Given the description of an element on the screen output the (x, y) to click on. 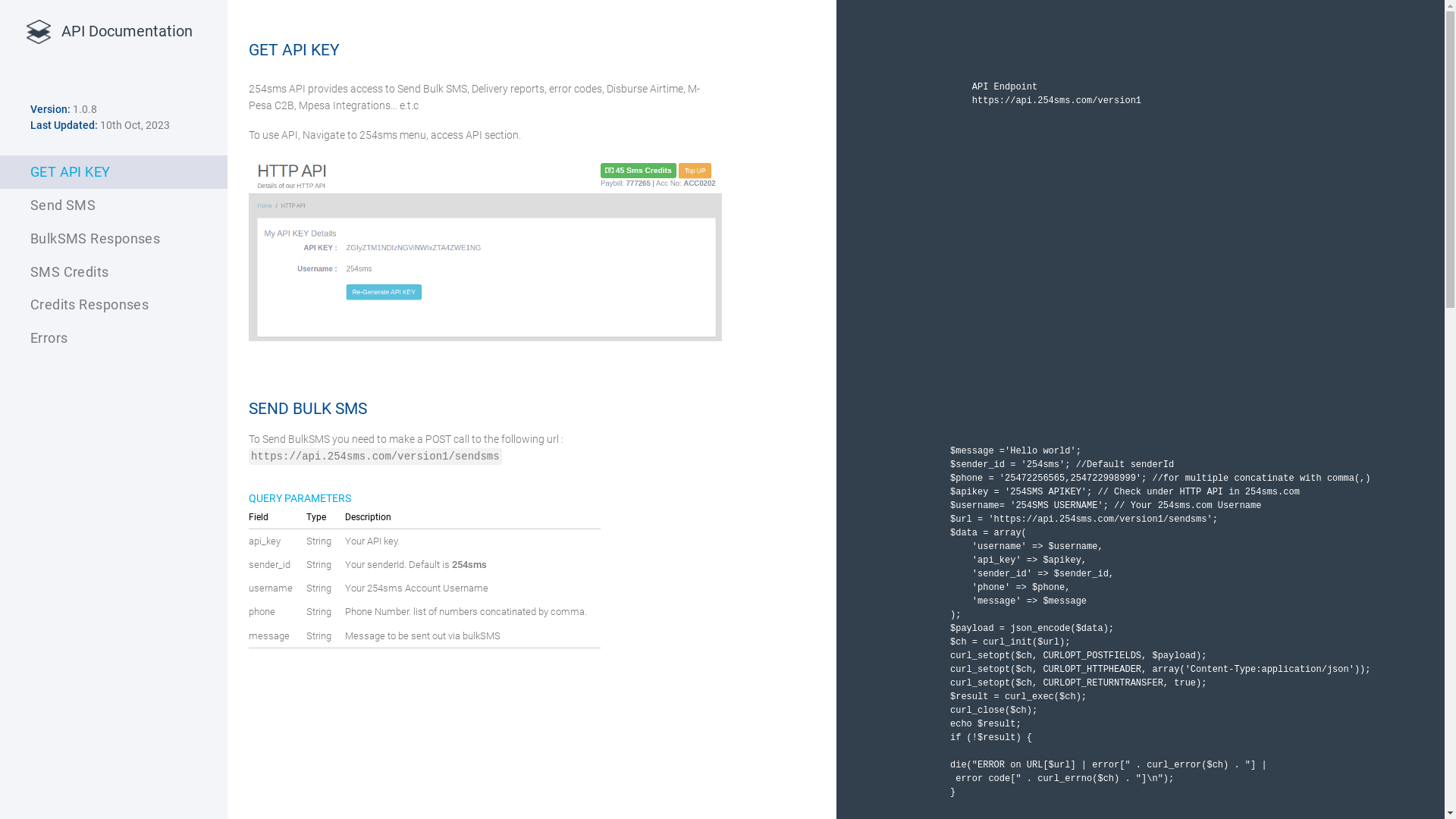
Errors Element type: text (113, 337)
Send SMS Element type: text (113, 205)
platform by Emily van den Heever from the Noun Project Element type: hover (37, 31)
BulkSMS Responses Element type: text (113, 238)
SMS Credits Element type: text (113, 271)
GET API KEY Element type: text (113, 171)
Credits Responses Element type: text (113, 304)
